Given the description of an element on the screen output the (x, y) to click on. 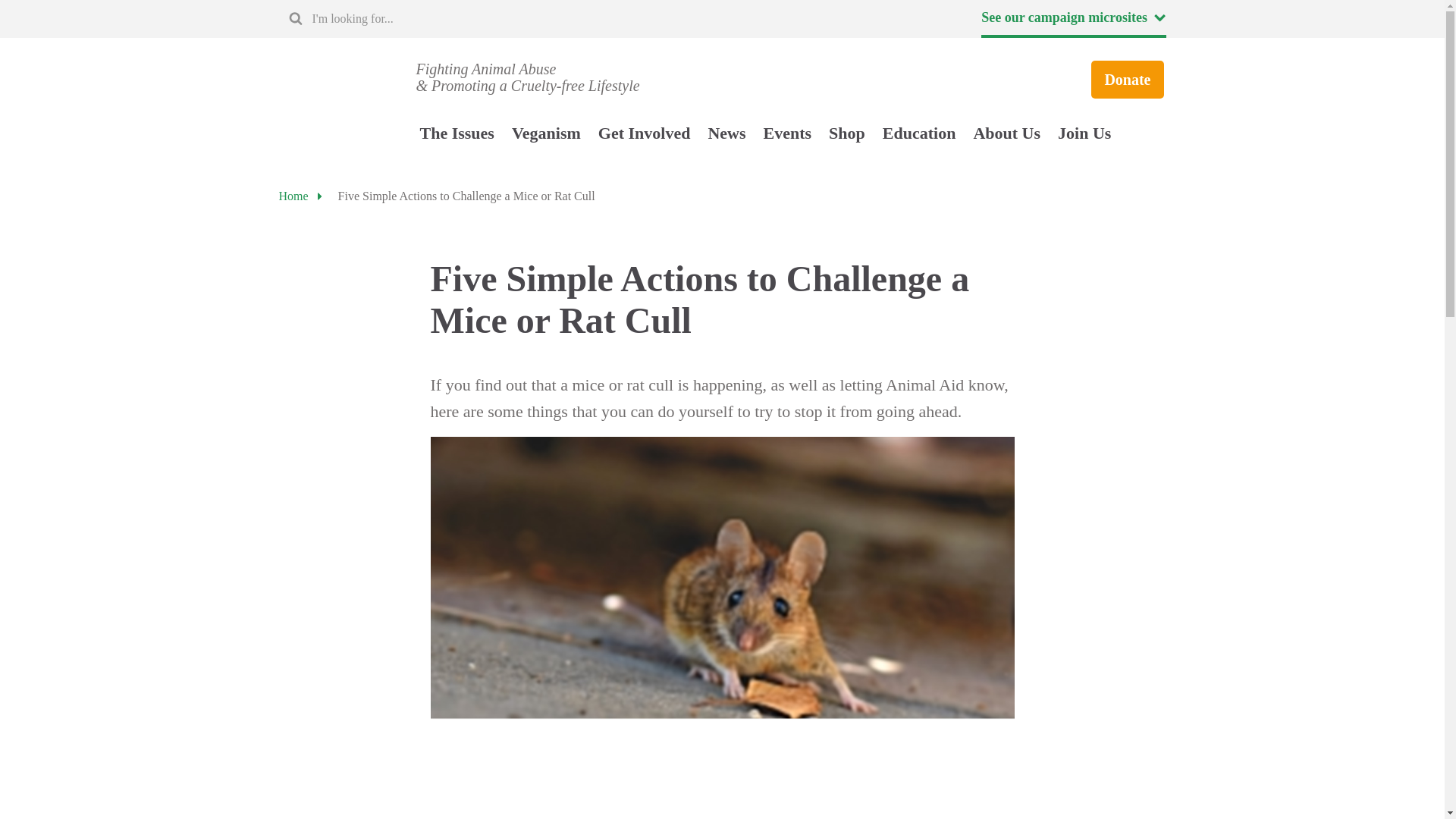
Education (919, 133)
Donate (1126, 79)
Veganism (545, 133)
About Us (1006, 133)
Shop (846, 133)
Get Involved (644, 133)
What are you looking for? (396, 18)
The Issues (457, 133)
News (726, 133)
Events (787, 133)
